Given the description of an element on the screen output the (x, y) to click on. 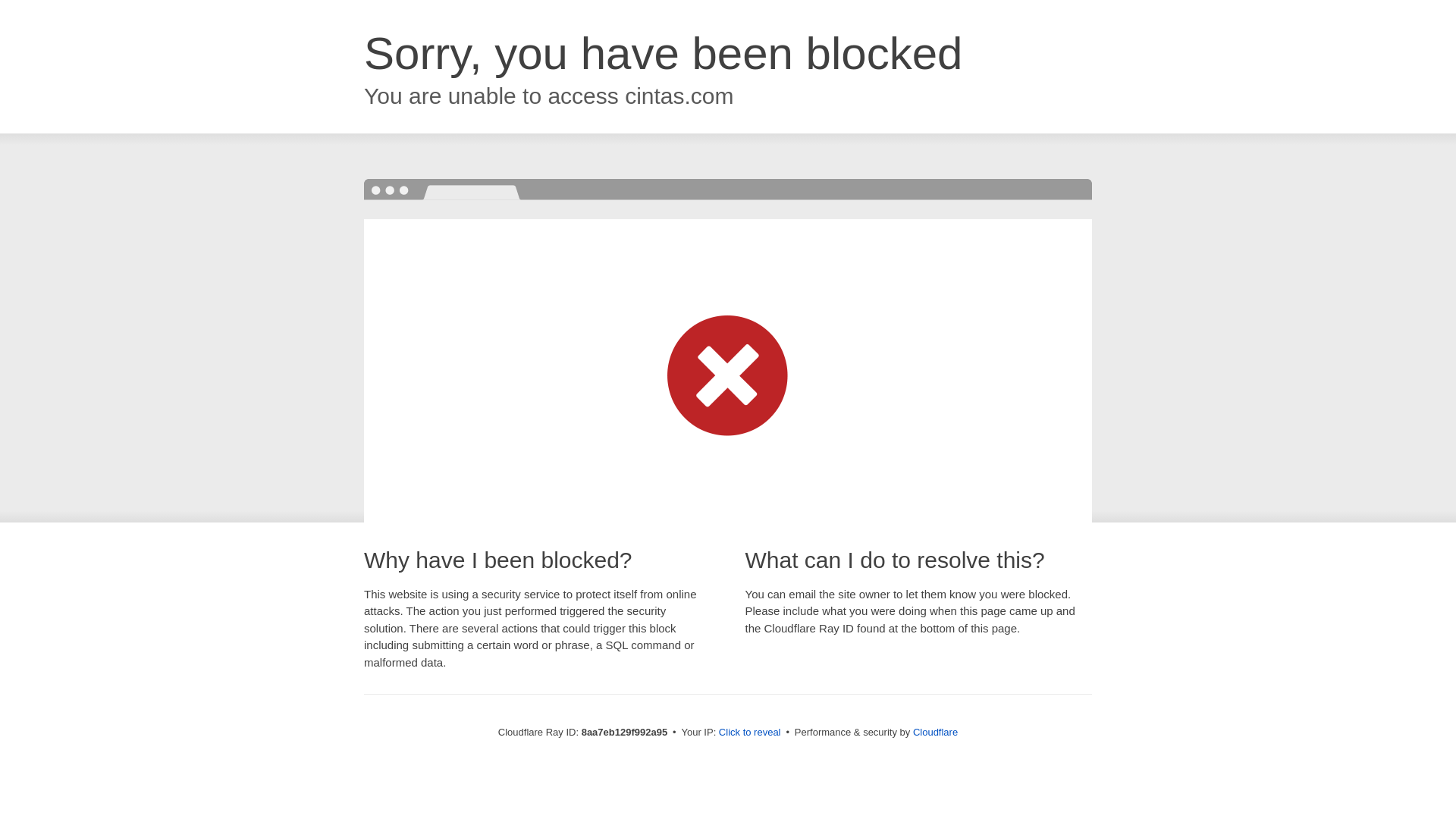
Click to reveal (749, 732)
Cloudflare (935, 731)
